Given the description of an element on the screen output the (x, y) to click on. 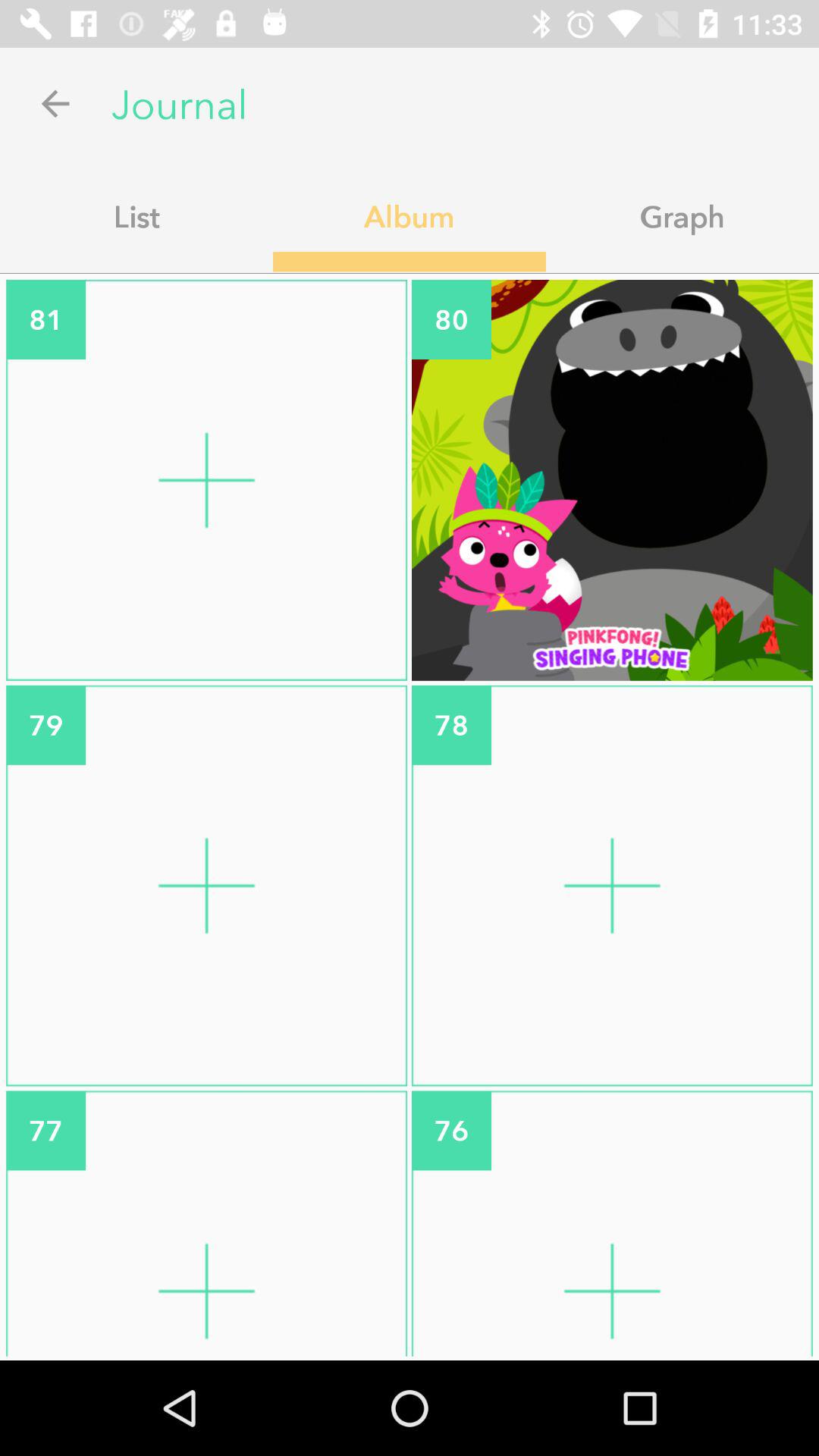
scroll to album item (409, 216)
